Given the description of an element on the screen output the (x, y) to click on. 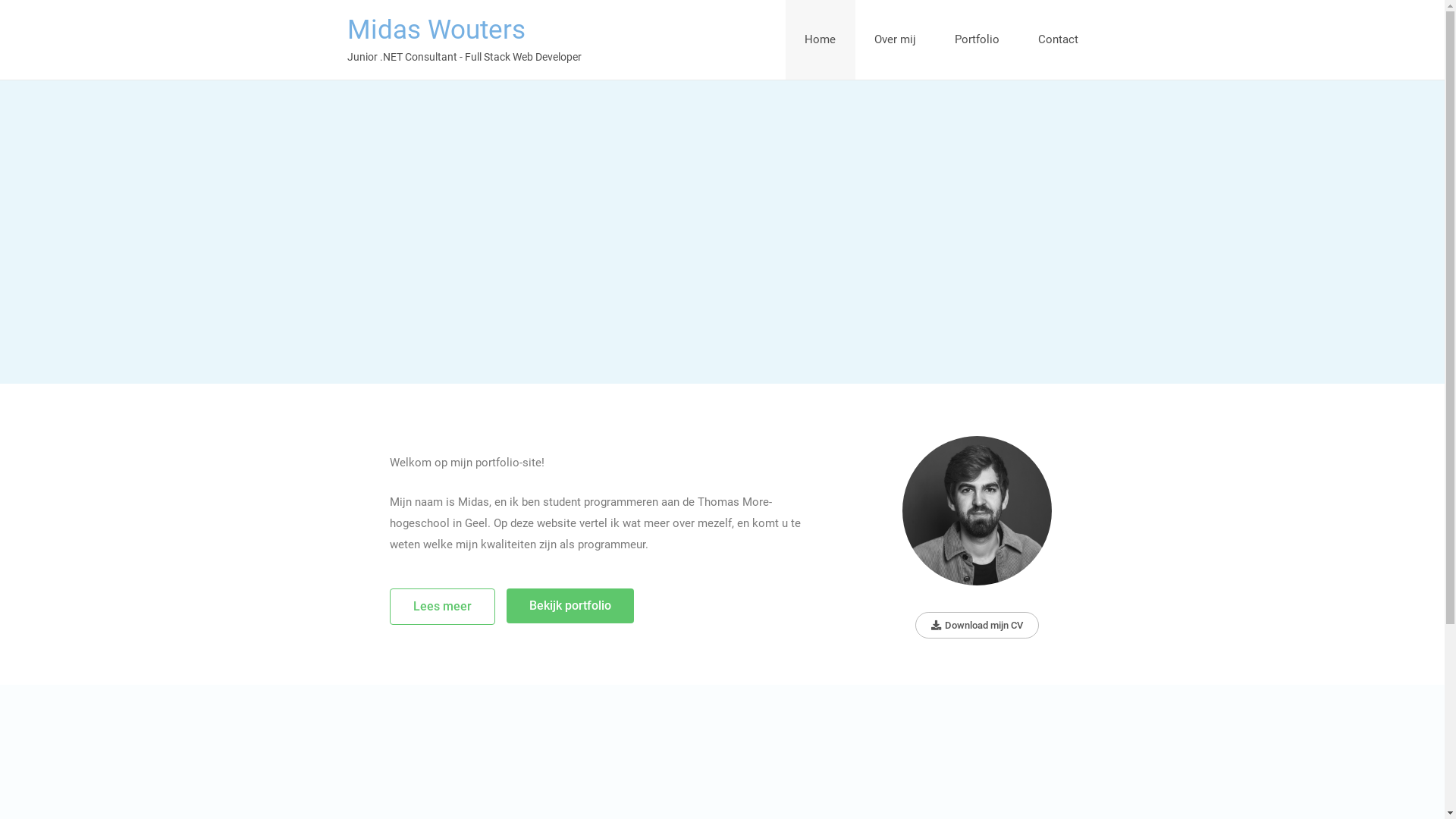
Home Element type: text (820, 39)
Over mij Element type: text (895, 39)
Lees meer Element type: text (442, 606)
Portfolio Element type: text (977, 39)
Midas Wouters Element type: text (436, 29)
Download mijn CV Element type: text (976, 624)
Bekijk portfolio Element type: text (569, 605)
Contact Element type: text (1058, 39)
